Given the description of an element on the screen output the (x, y) to click on. 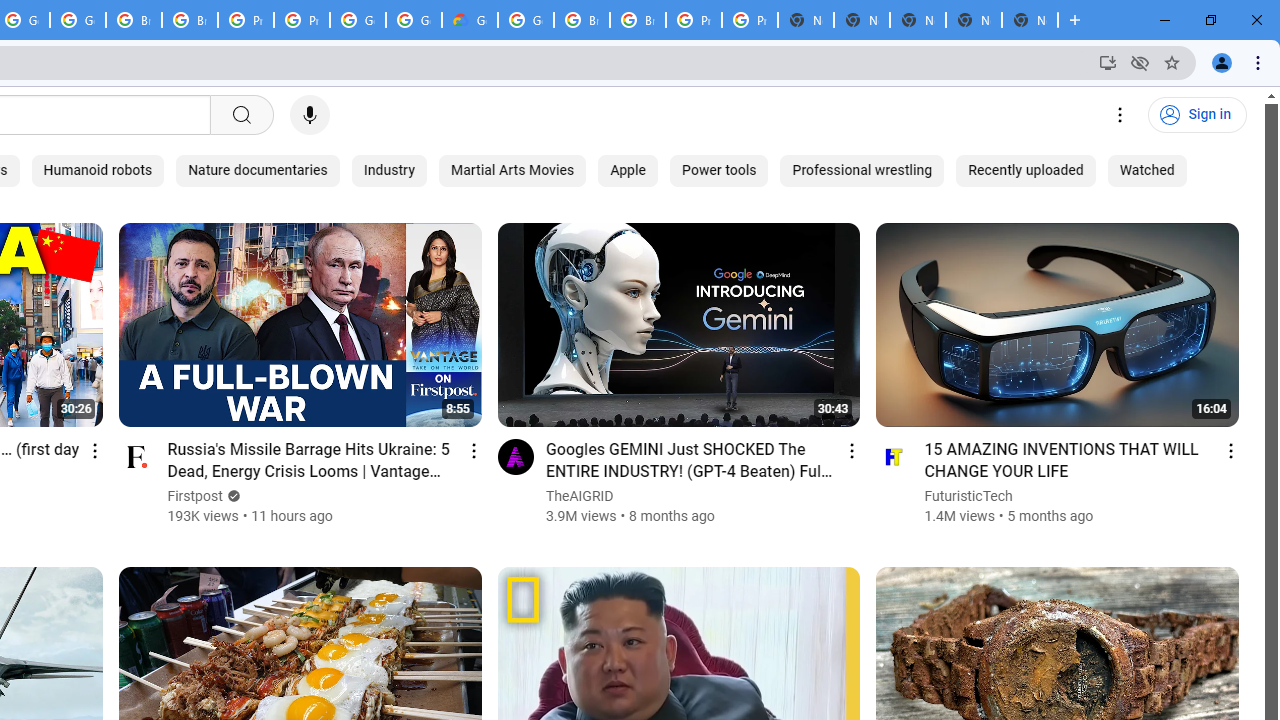
Go to channel (893, 456)
Professional wrestling (861, 170)
Industry (388, 170)
TheAIGRID (579, 496)
Firstpost (195, 496)
Power tools (719, 170)
Nature documentaries (258, 170)
